Given the description of an element on the screen output the (x, y) to click on. 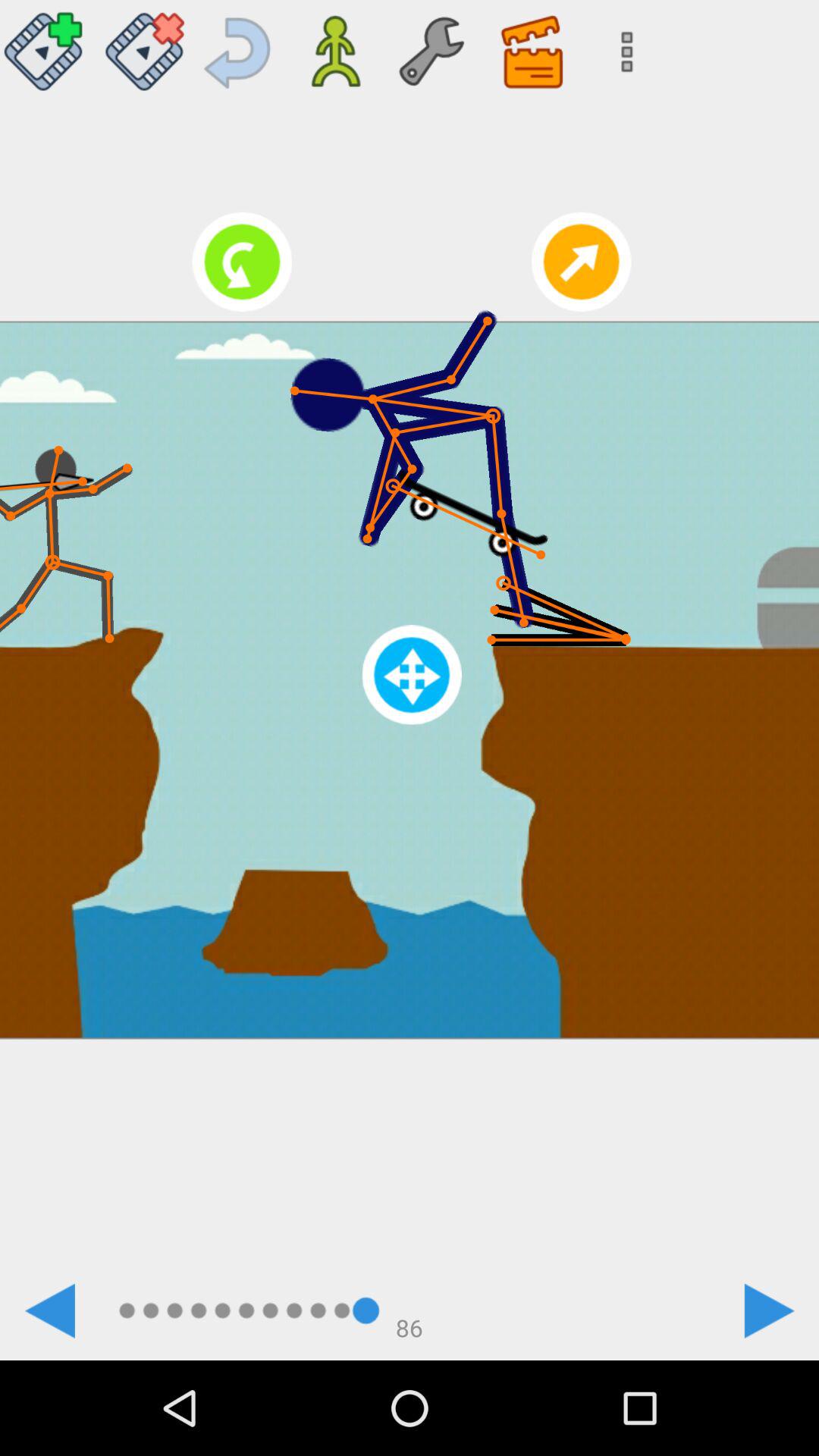
remove a video clip (144, 45)
